Given the description of an element on the screen output the (x, y) to click on. 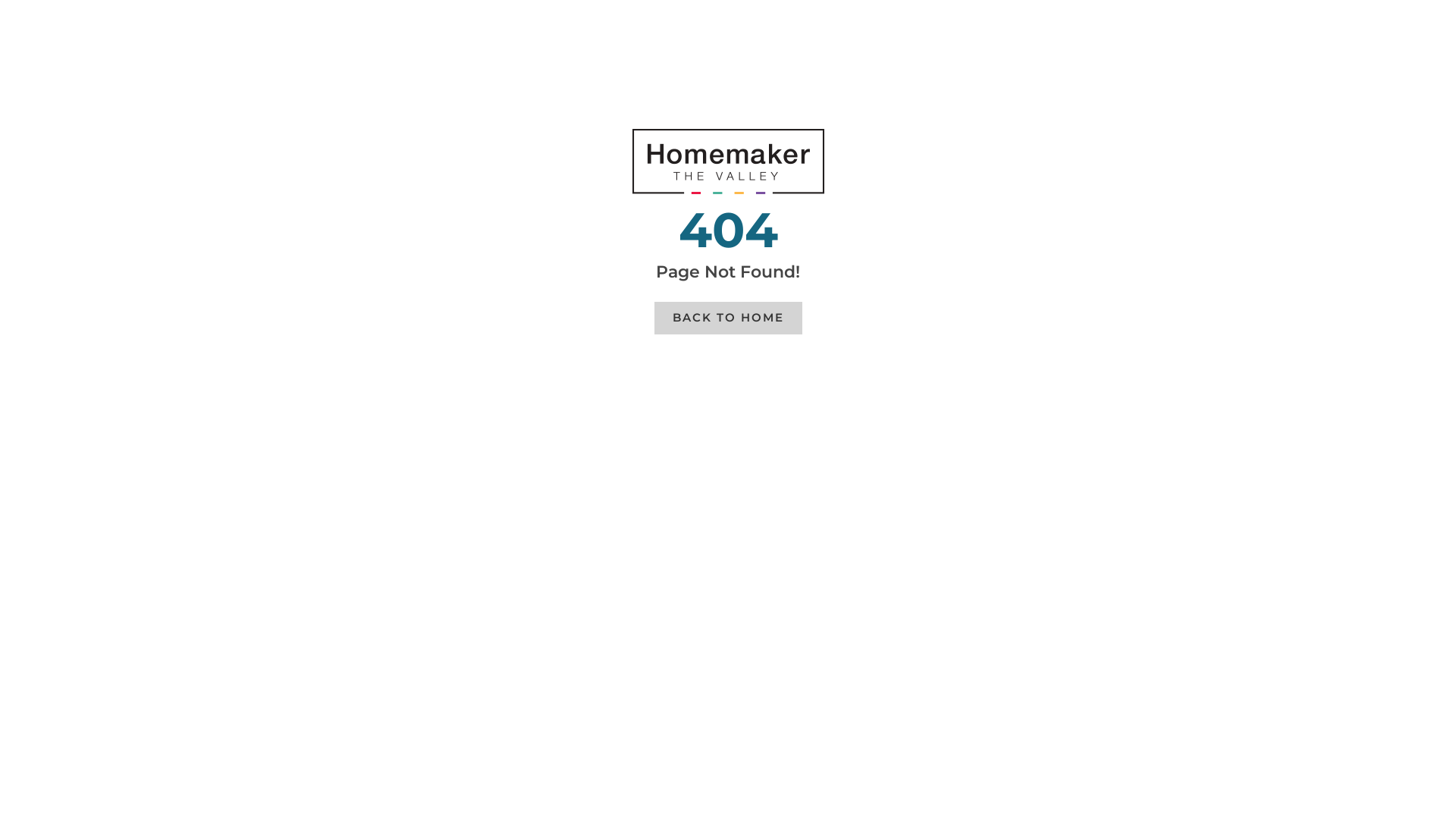
BACK TO HOME Element type: text (727, 317)
